Given the description of an element on the screen output the (x, y) to click on. 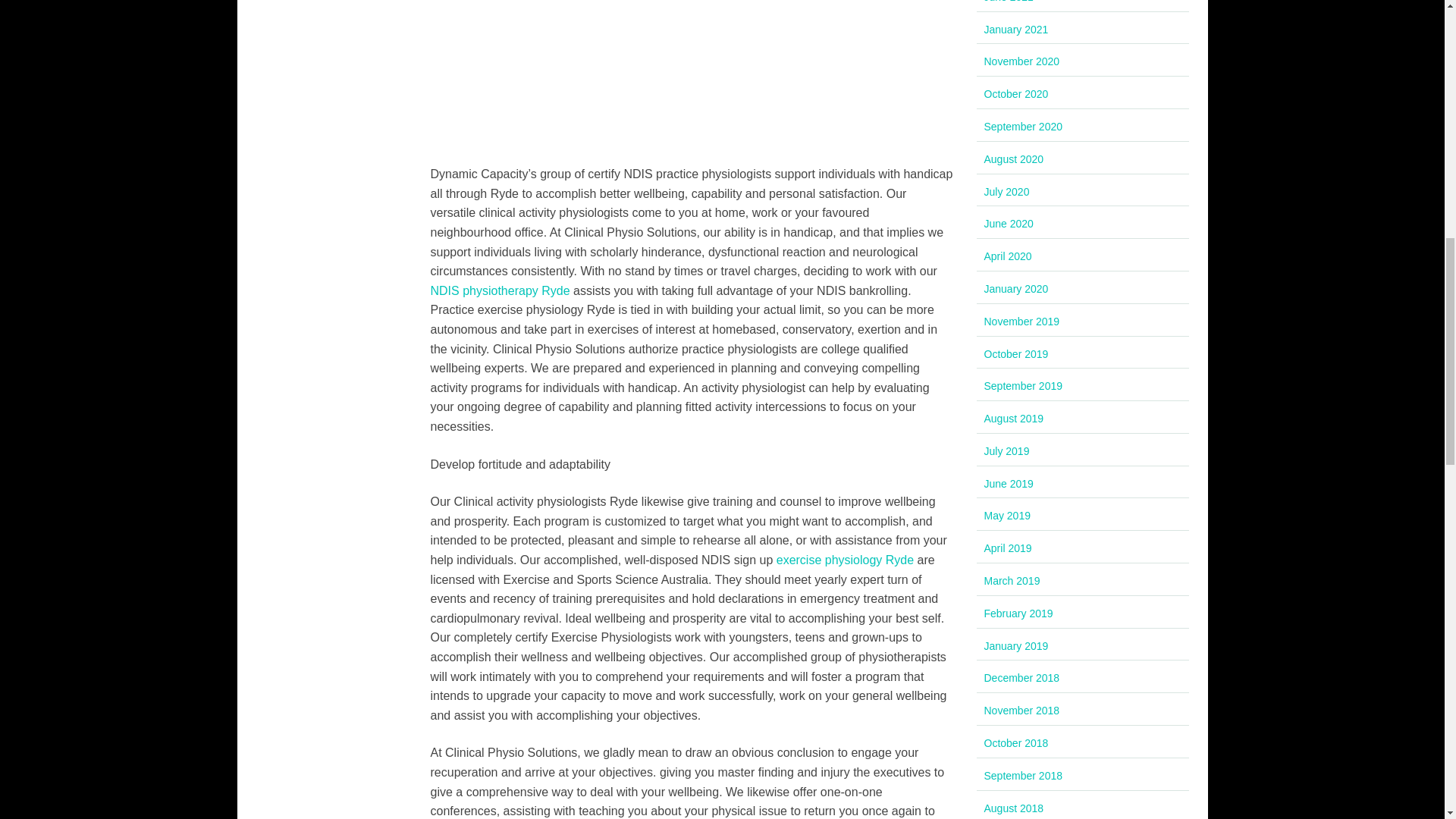
October 2020 (1016, 93)
NDIS physiotherapy Ryde (500, 290)
January 2021 (1016, 29)
June 2021 (1008, 1)
September 2020 (1023, 126)
November 2020 (1021, 61)
exercise physiology Ryde (845, 559)
August 2020 (1013, 159)
2.jpg (691, 73)
